Given the description of an element on the screen output the (x, y) to click on. 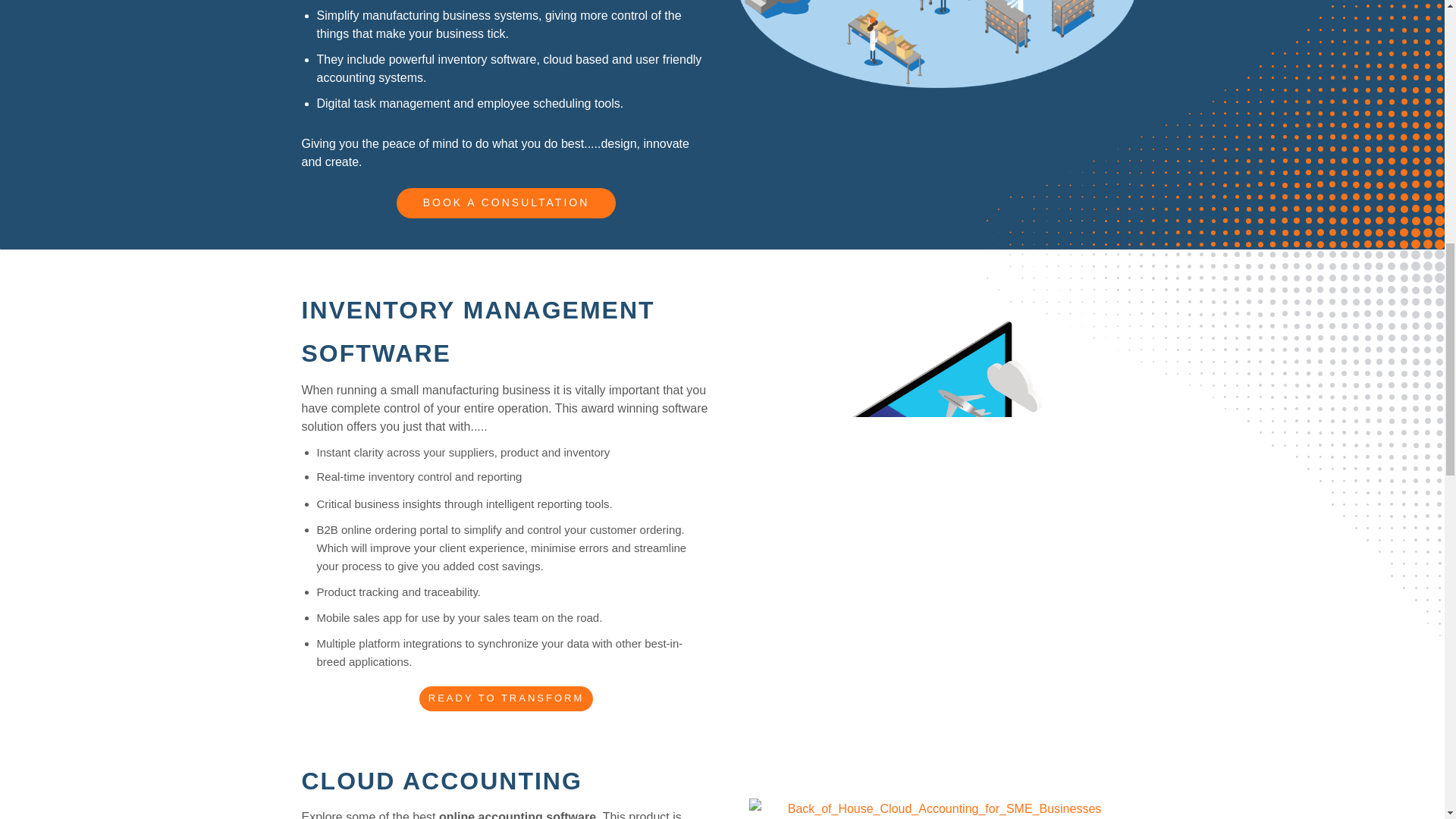
BOOK A CONSULTATION (505, 203)
30 min consultation to learn more (505, 698)
READY TO TRANSFORM (505, 698)
30min consultation  (505, 203)
